Given the description of an element on the screen output the (x, y) to click on. 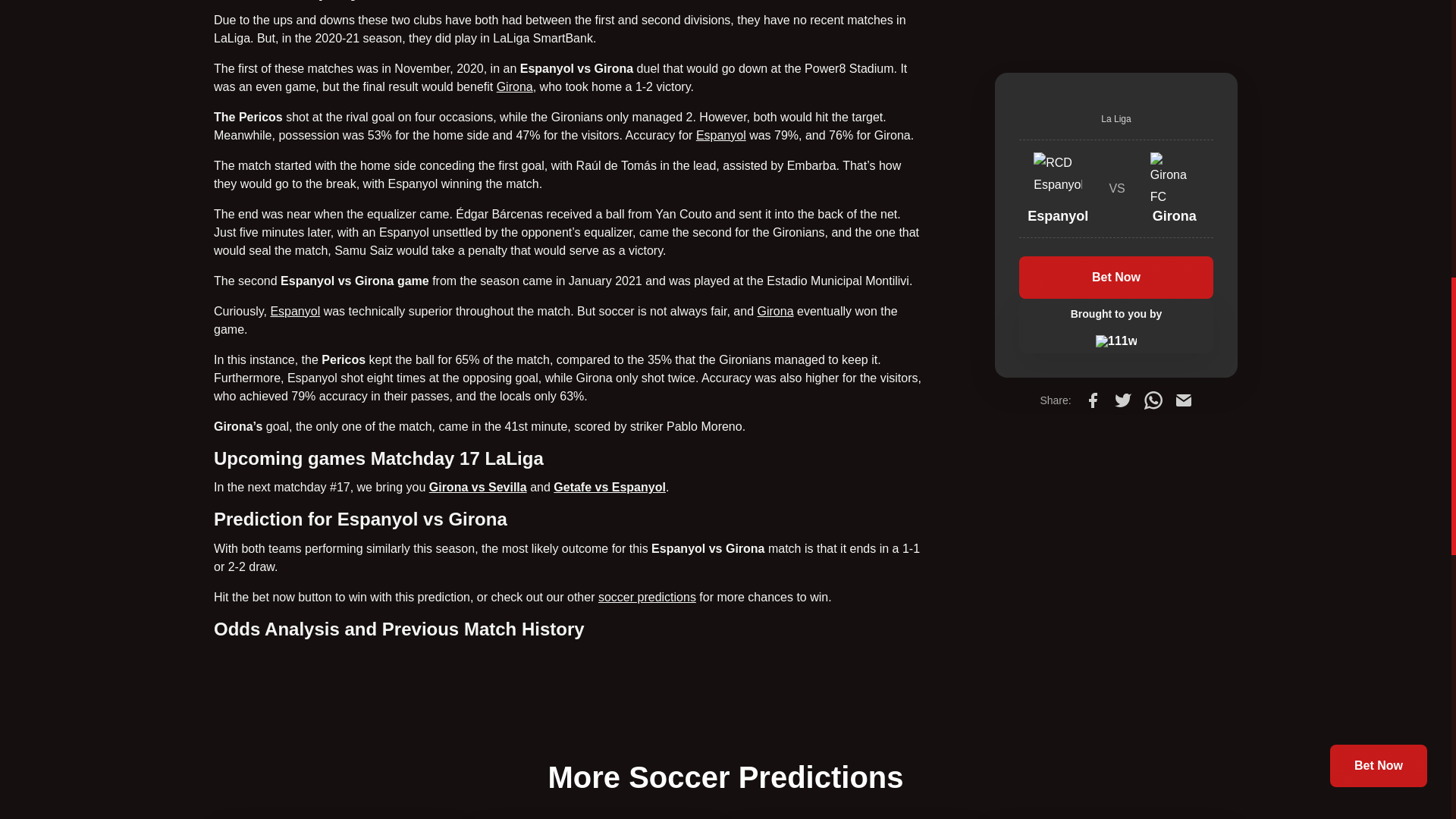
Mallorca vs Espanyol LaLiga 22-23 Predictions (720, 134)
Girona vs Osasuna LaLiga 22-23 Predictions (514, 86)
prediction Getafe vs Espanyol (609, 486)
Girona vs Sevilla predictions (478, 486)
atletico vs espanyol LaLiga 22-23 Predictions (294, 310)
Soccer Predictions (646, 596)
Real Madrid vs Girona LaLiga 22-23 Predictions (775, 310)
